Given the description of an element on the screen output the (x, y) to click on. 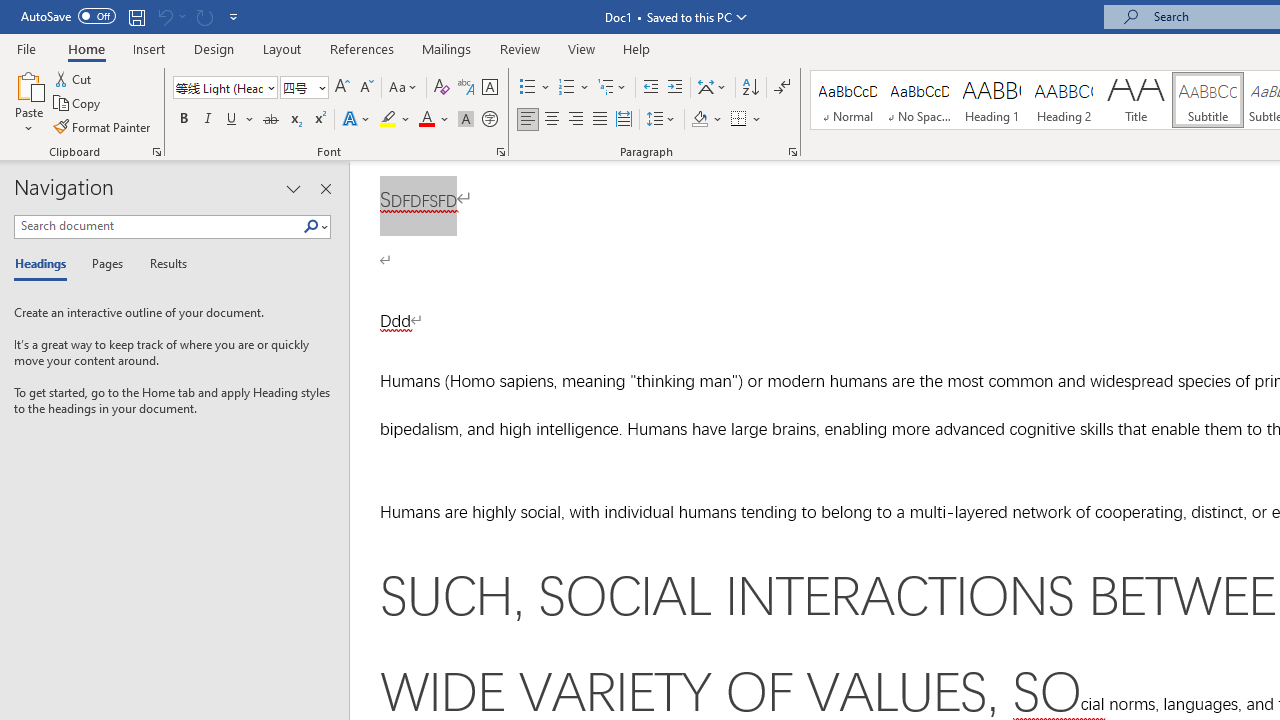
Subscript (294, 119)
References (362, 48)
Line and Paragraph Spacing (661, 119)
Can't Repeat (204, 15)
Design (214, 48)
Quick Access Toolbar (131, 16)
Font (218, 87)
Decrease Indent (650, 87)
Subtitle (1208, 100)
Font... (500, 151)
Clear Formatting (442, 87)
Underline (239, 119)
Shrink Font (365, 87)
Enclose Characters... (489, 119)
